Given the description of an element on the screen output the (x, y) to click on. 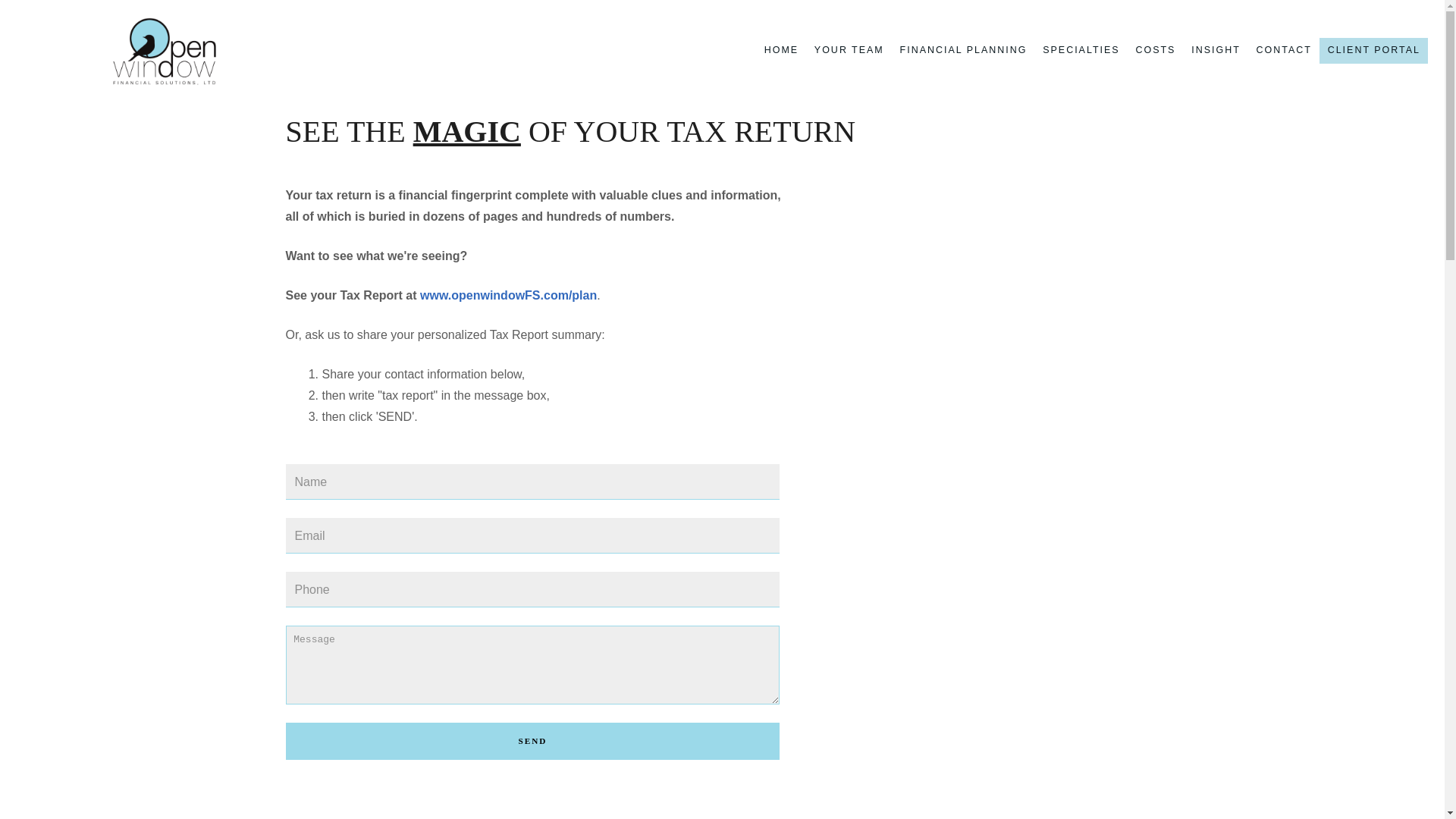
CLIENT PORTAL (1374, 50)
CONTACT (1283, 50)
FINANCIAL PLANNING (963, 50)
COSTS (1154, 50)
SEND (531, 741)
YOUR TEAM (848, 50)
SPECIALTIES (1080, 50)
INSIGHT (1215, 50)
HOME (780, 50)
